Given the description of an element on the screen output the (x, y) to click on. 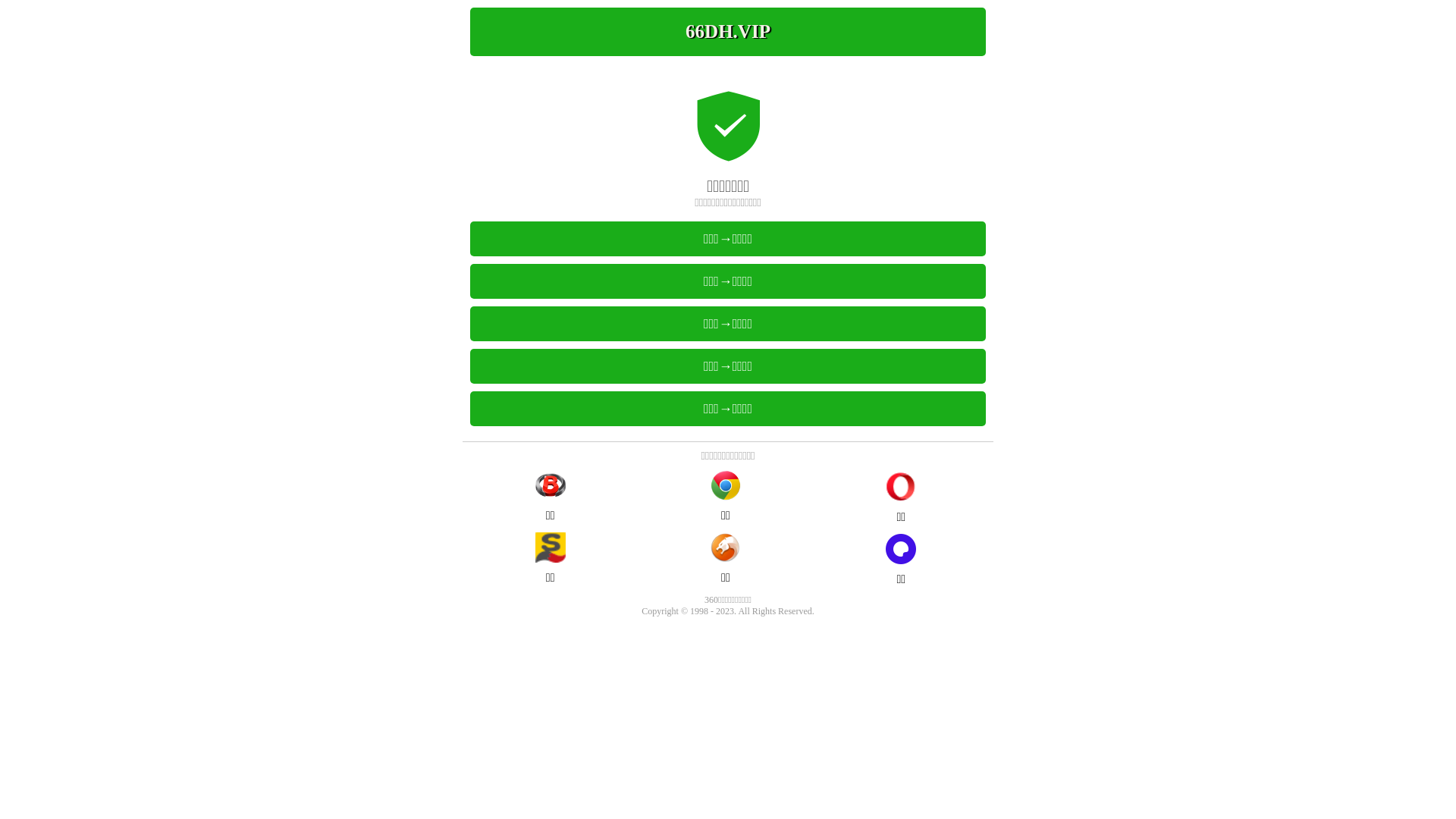
66DH.VIP Element type: text (727, 31)
